Given the description of an element on the screen output the (x, y) to click on. 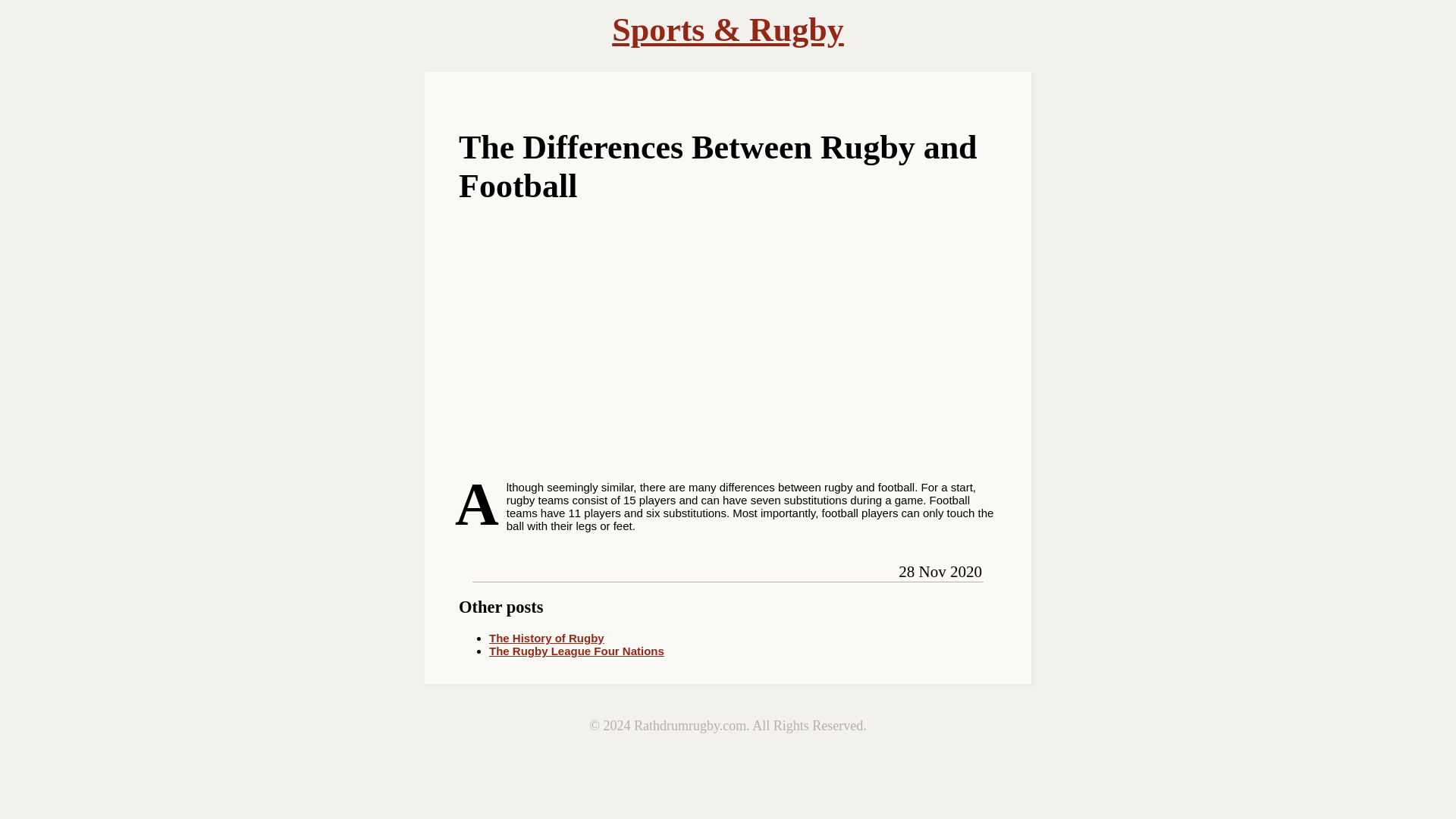
LinkedIn (515, 568)
Twitter (499, 568)
The History of Rugby (546, 637)
The Rugby League Four Nations (576, 650)
Facebook (483, 568)
RSS (531, 568)
